Given the description of an element on the screen output the (x, y) to click on. 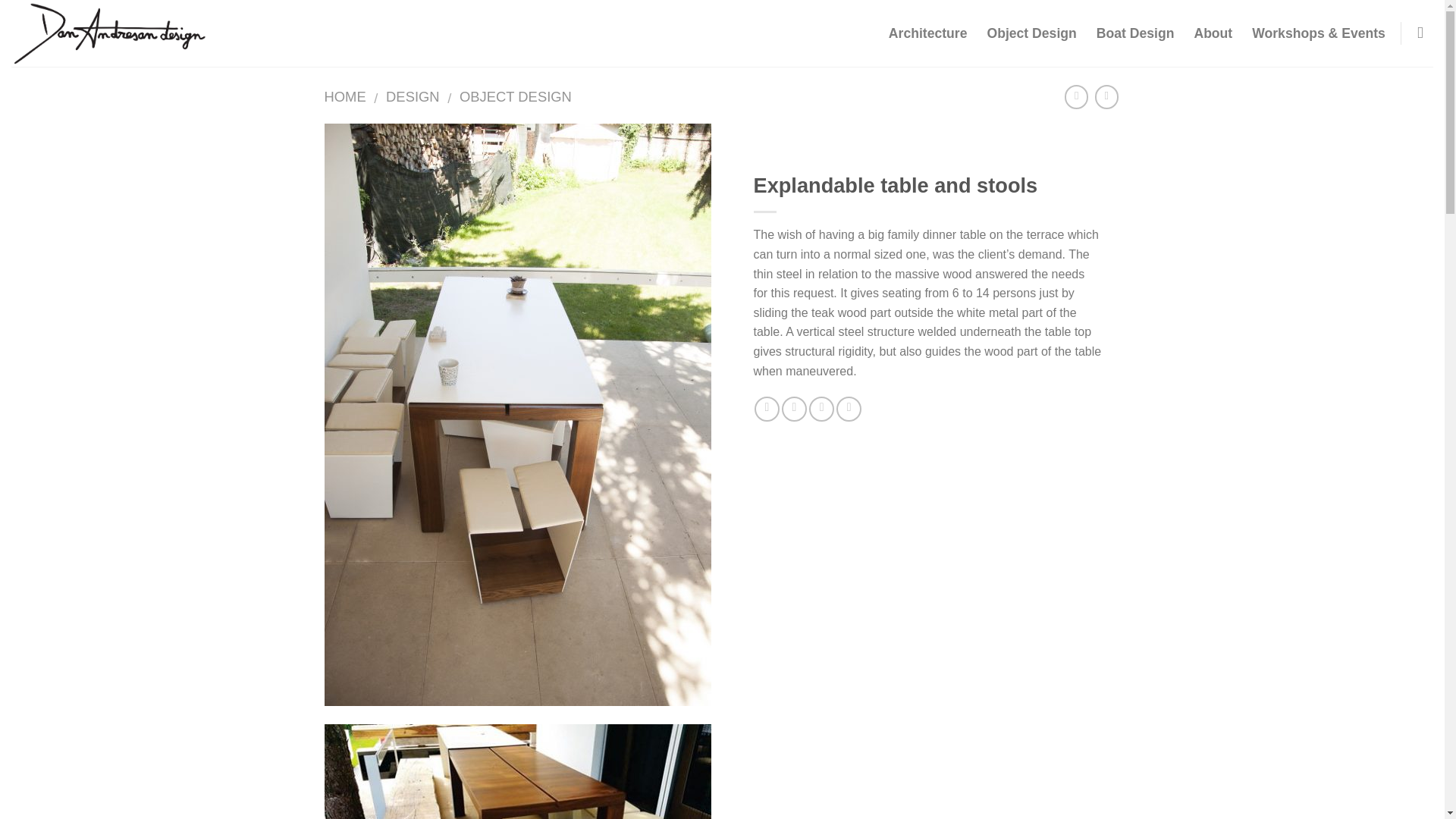
Dan Andresan Design - Design and Architecture (162, 33)
Architecture (928, 33)
DESIGN (412, 96)
About (1212, 33)
OBJECT DESIGN (516, 96)
Object Design (1031, 33)
Boat Design (1135, 33)
HOME (345, 96)
